Given the description of an element on the screen output the (x, y) to click on. 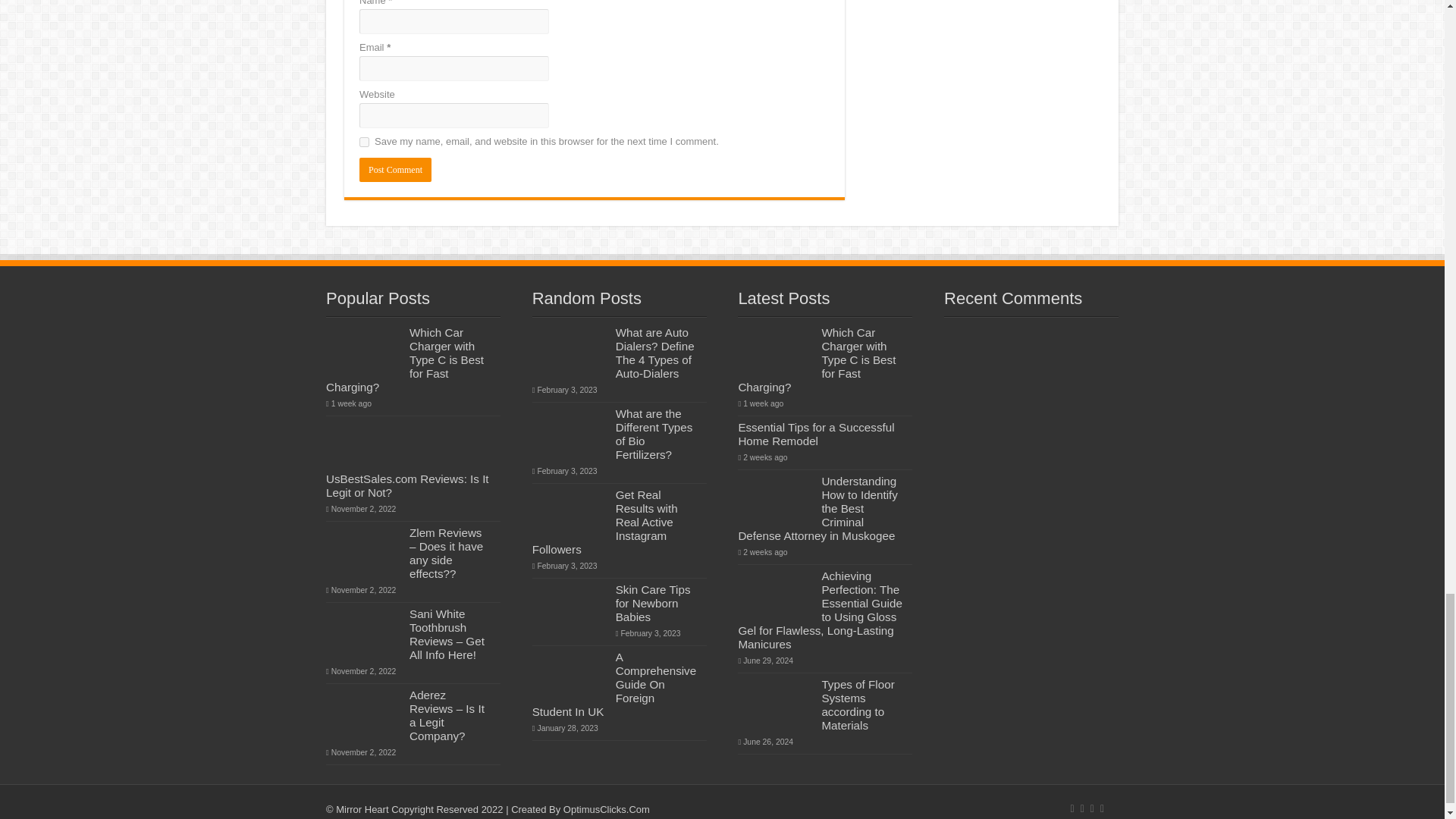
Post Comment (394, 169)
yes (364, 142)
